Given the description of an element on the screen output the (x, y) to click on. 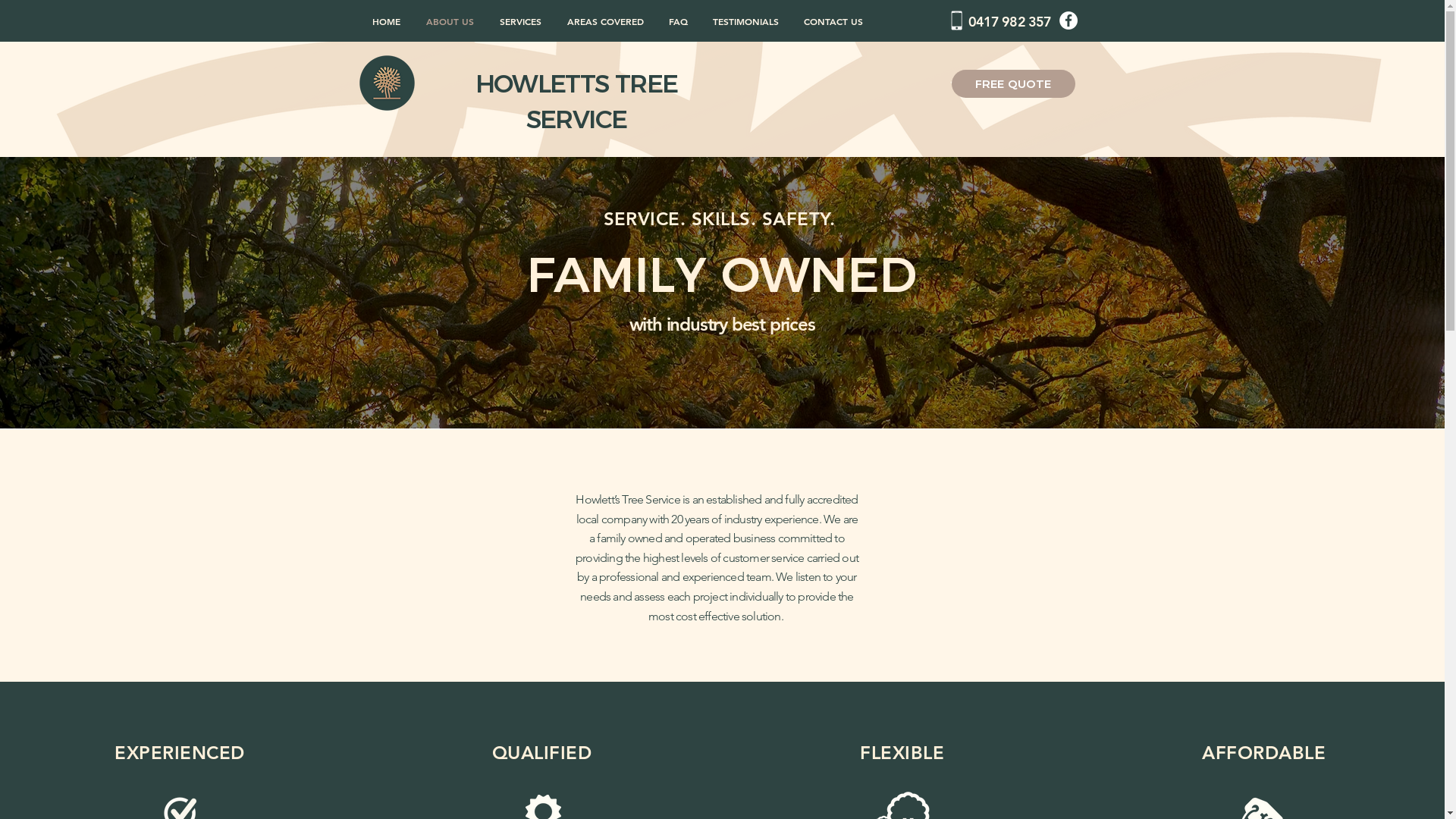
AREAS COVERED Element type: text (604, 21)
FREE QUOTE Element type: text (1012, 83)
ABOUT US Element type: text (449, 21)
FAQ Element type: text (678, 21)
CONTACT US Element type: text (833, 21)
SERVICES Element type: text (520, 21)
TESTIMONIALS Element type: text (745, 21)
HOME Element type: text (386, 21)
